Given the description of an element on the screen output the (x, y) to click on. 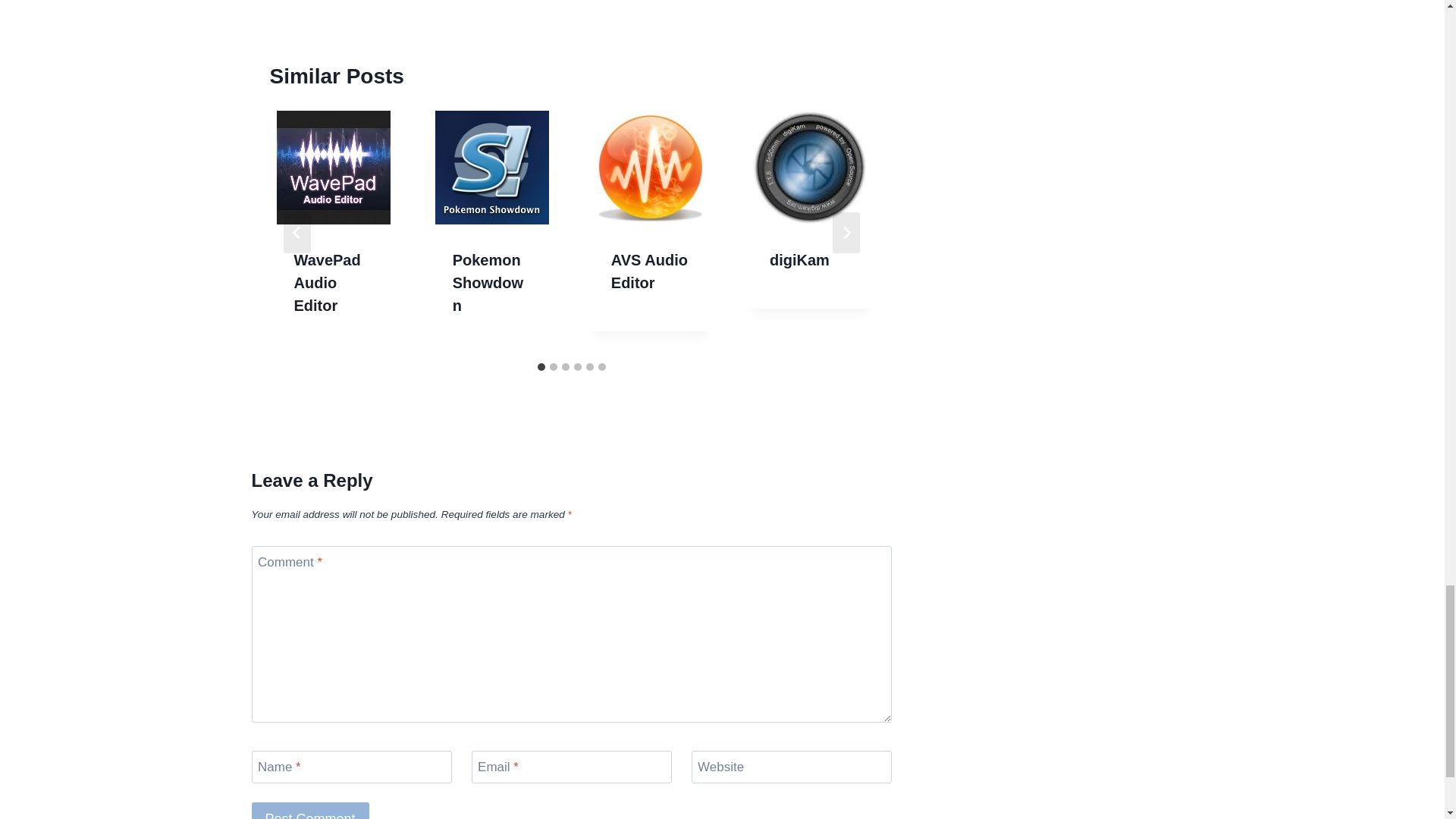
Post Comment (310, 810)
WavePad Audio Editor (327, 282)
AVS Audio Editor (649, 271)
Pokemon Showdown (487, 282)
